Given the description of an element on the screen output the (x, y) to click on. 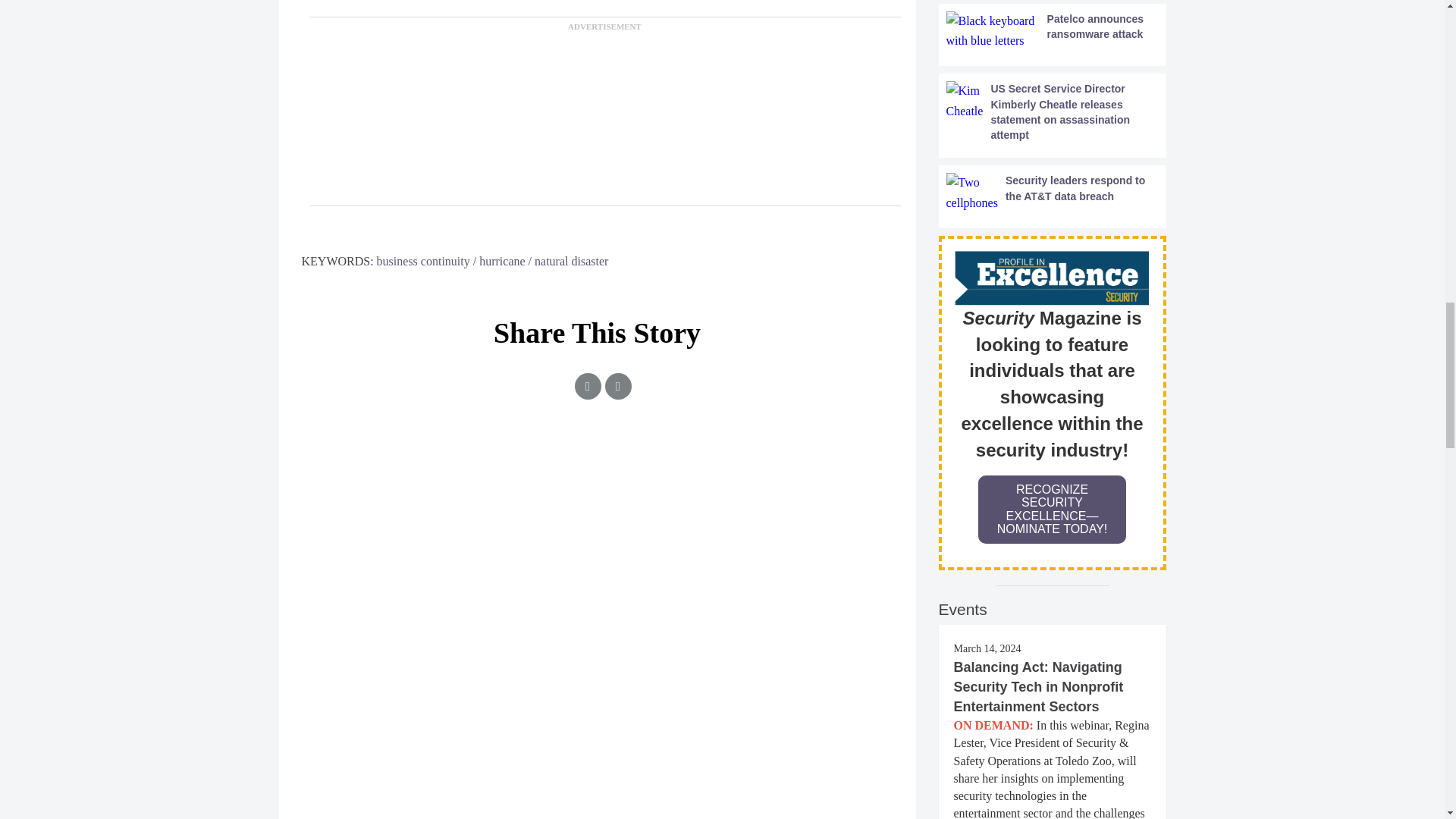
Interaction questions (597, 504)
Patelco announces ransomware attack (1052, 31)
